Given the description of an element on the screen output the (x, y) to click on. 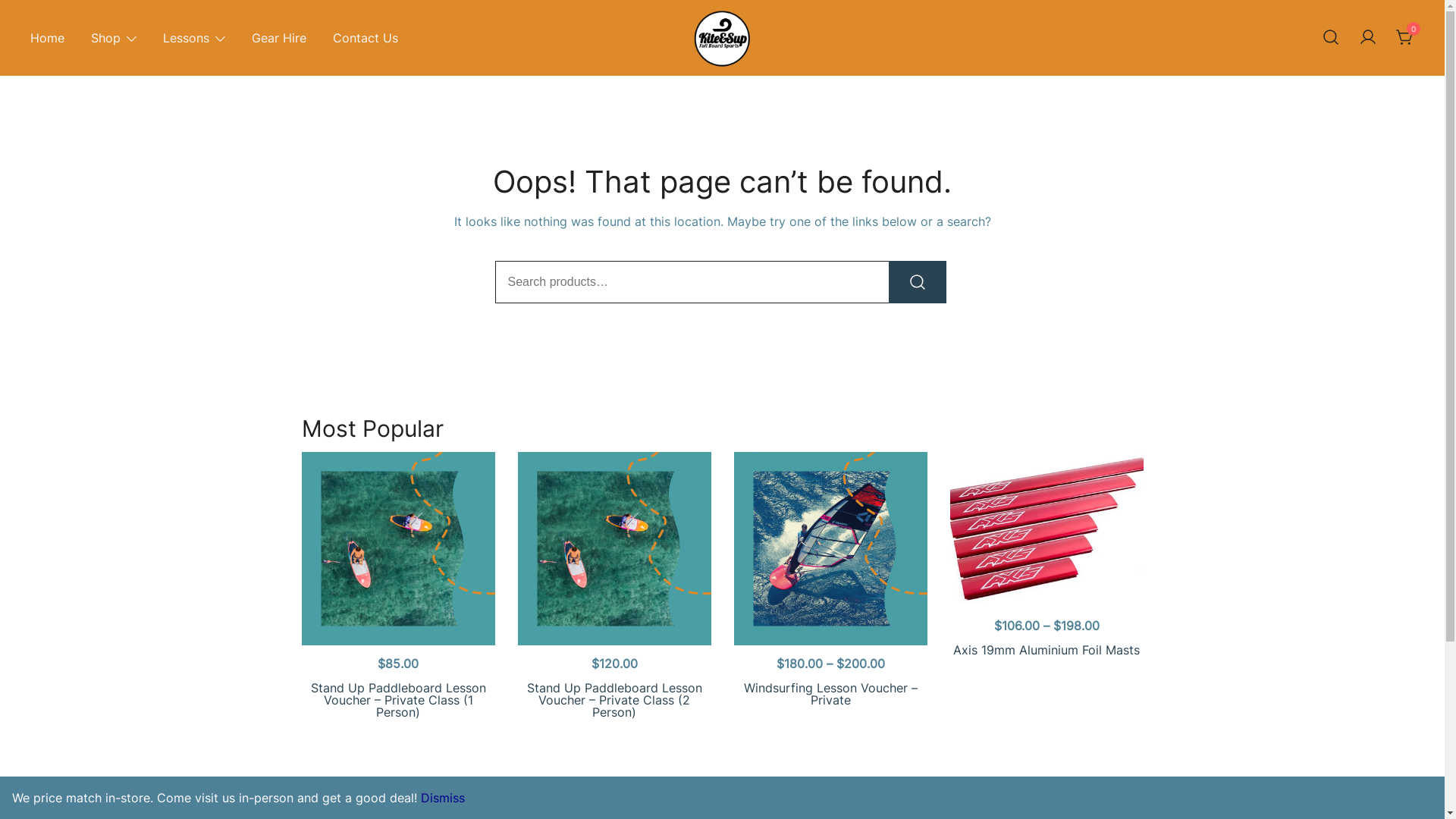
Lessons Element type: text (186, 37)
Axis 19mm Aluminium Foil Masts Element type: text (1046, 649)
Contact Us Element type: text (365, 37)
Kite and SUP Element type: text (741, 82)
0 Element type: text (1405, 35)
Shop Element type: text (105, 37)
Dismiss Element type: text (442, 797)
Home Element type: text (47, 37)
Search for a product Element type: hover (1330, 37)
Search Element type: text (917, 281)
Gear Hire Element type: text (278, 37)
Your account Element type: hover (1367, 37)
Search for the product Element type: hover (917, 281)
